Given the description of an element on the screen output the (x, y) to click on. 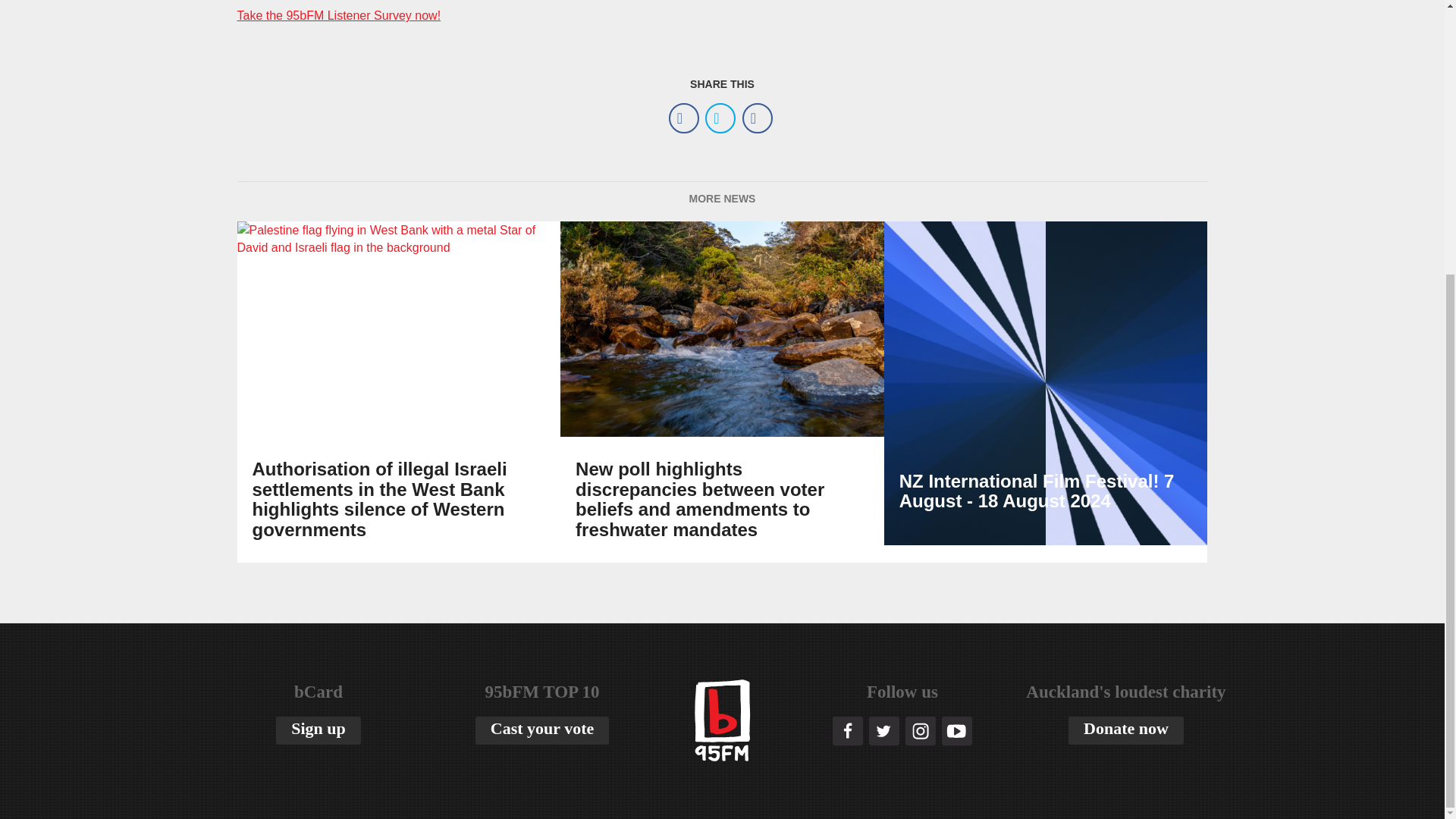
Sign up (318, 730)
NZ International Film Festival! 7 August - 18 August 2024 (1045, 391)
Facebook (683, 118)
Twitter (719, 118)
Cast your vote (542, 730)
Email (757, 118)
Take the 95bFM Listener Survey now! (338, 15)
Twitter (719, 118)
Facebook (683, 118)
